Given the description of an element on the screen output the (x, y) to click on. 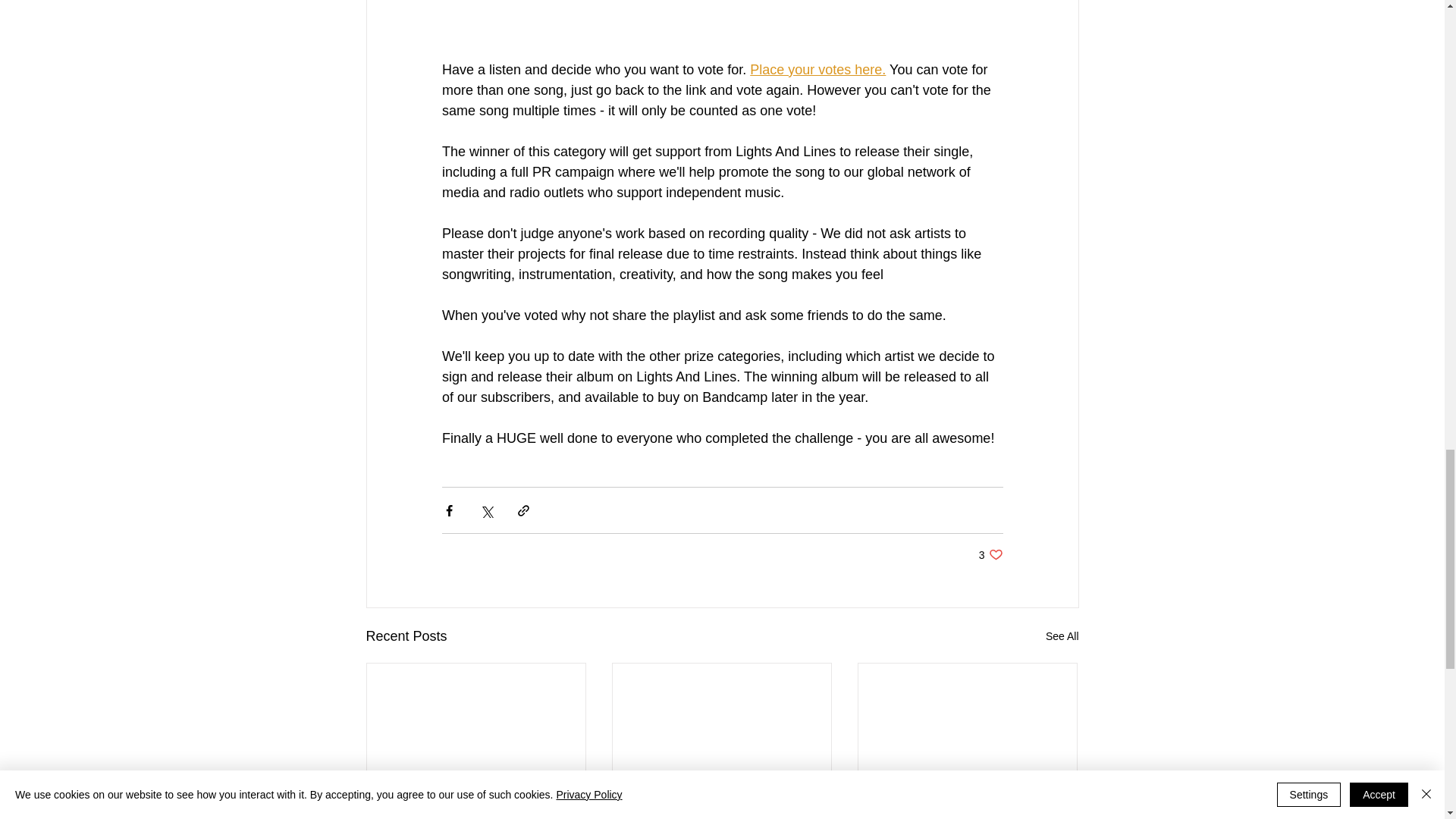
Place your votes here. (817, 69)
See All (1061, 636)
New Release: We Walk The Earth - The Drowned World (990, 554)
This is BIG... Introducing LAL-V001 (476, 811)
